Given the description of an element on the screen output the (x, y) to click on. 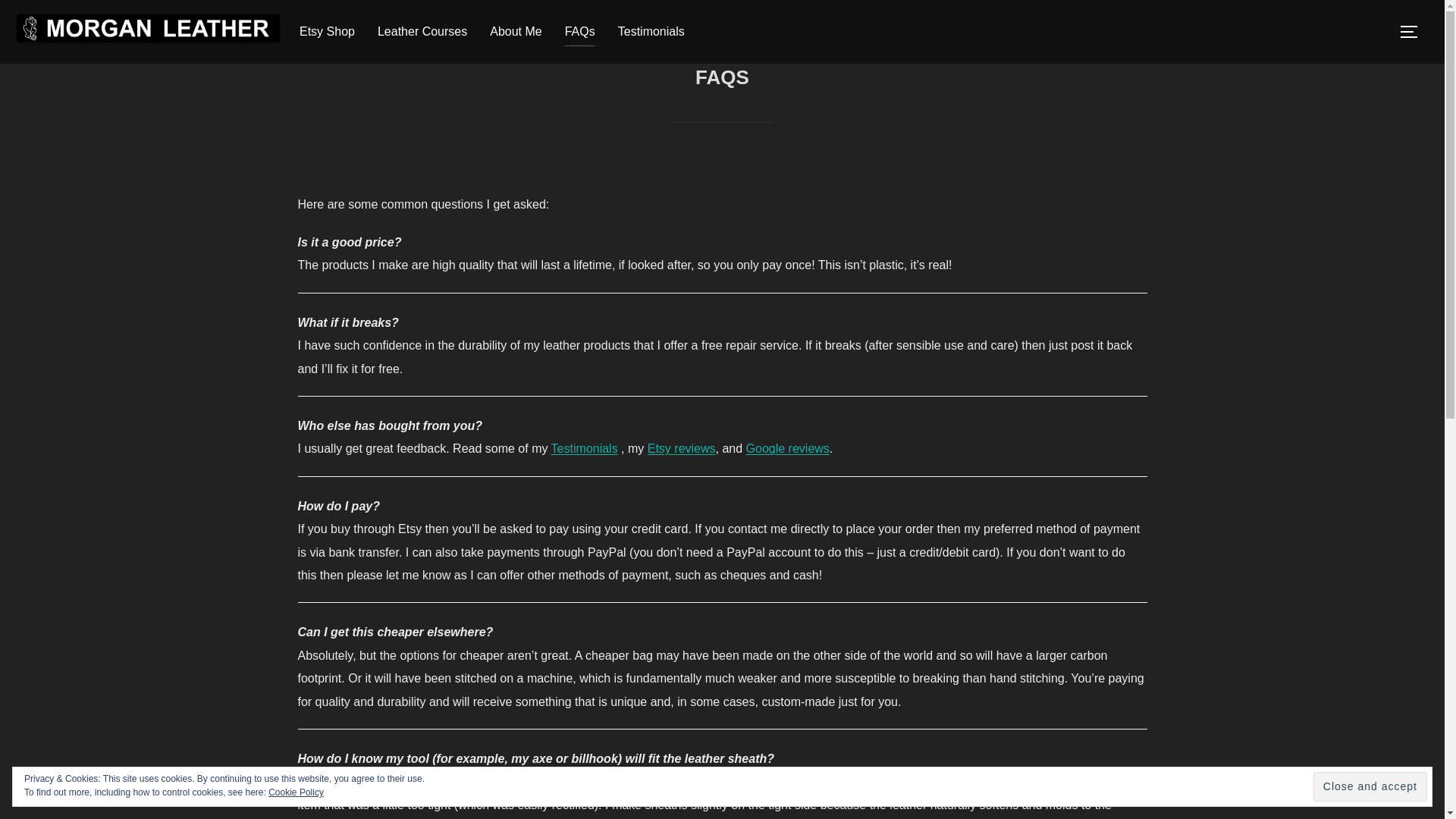
Close and accept (1369, 786)
